Given the description of an element on the screen output the (x, y) to click on. 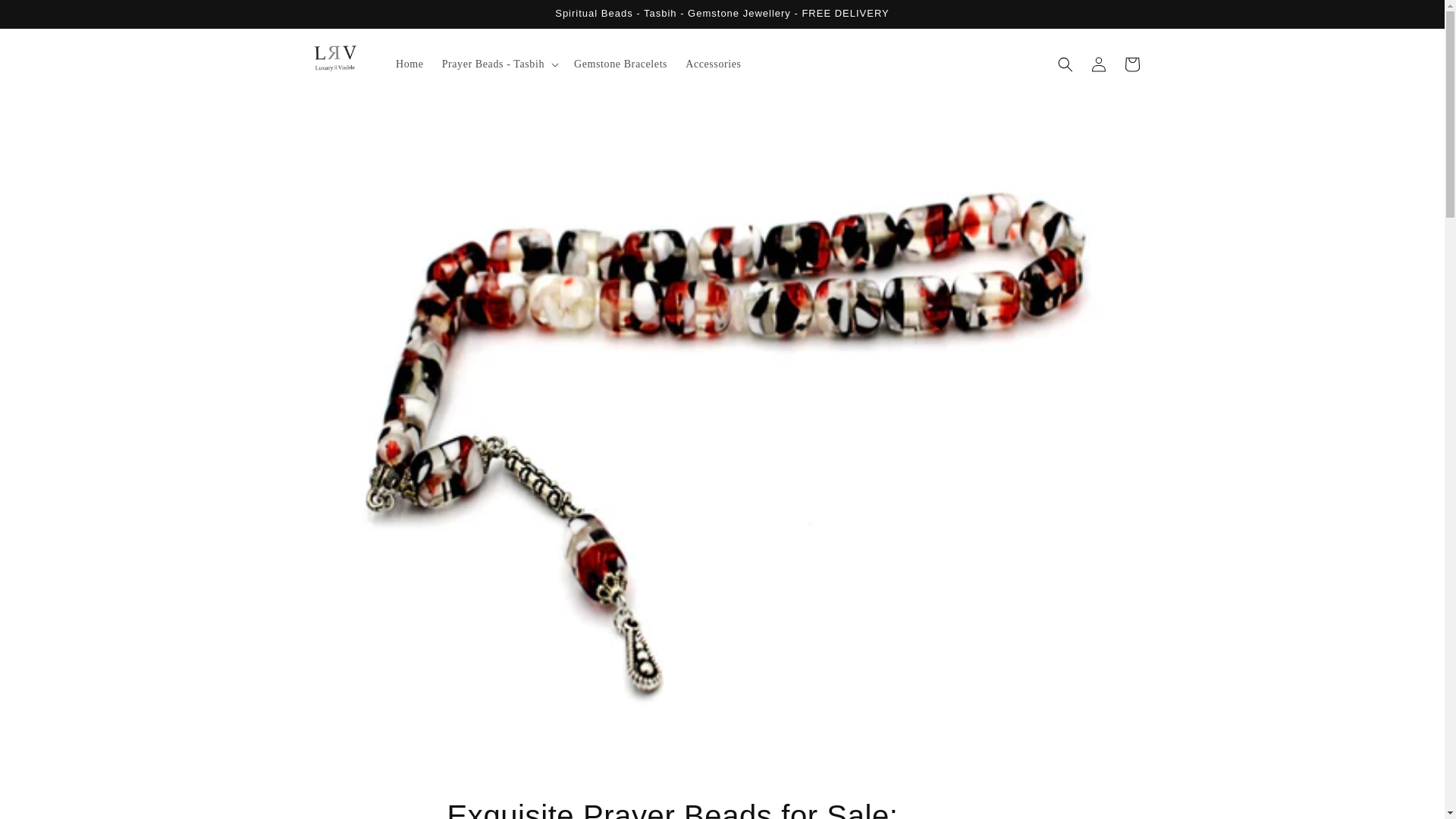
Home (409, 64)
Skip to content (45, 16)
